Given the description of an element on the screen output the (x, y) to click on. 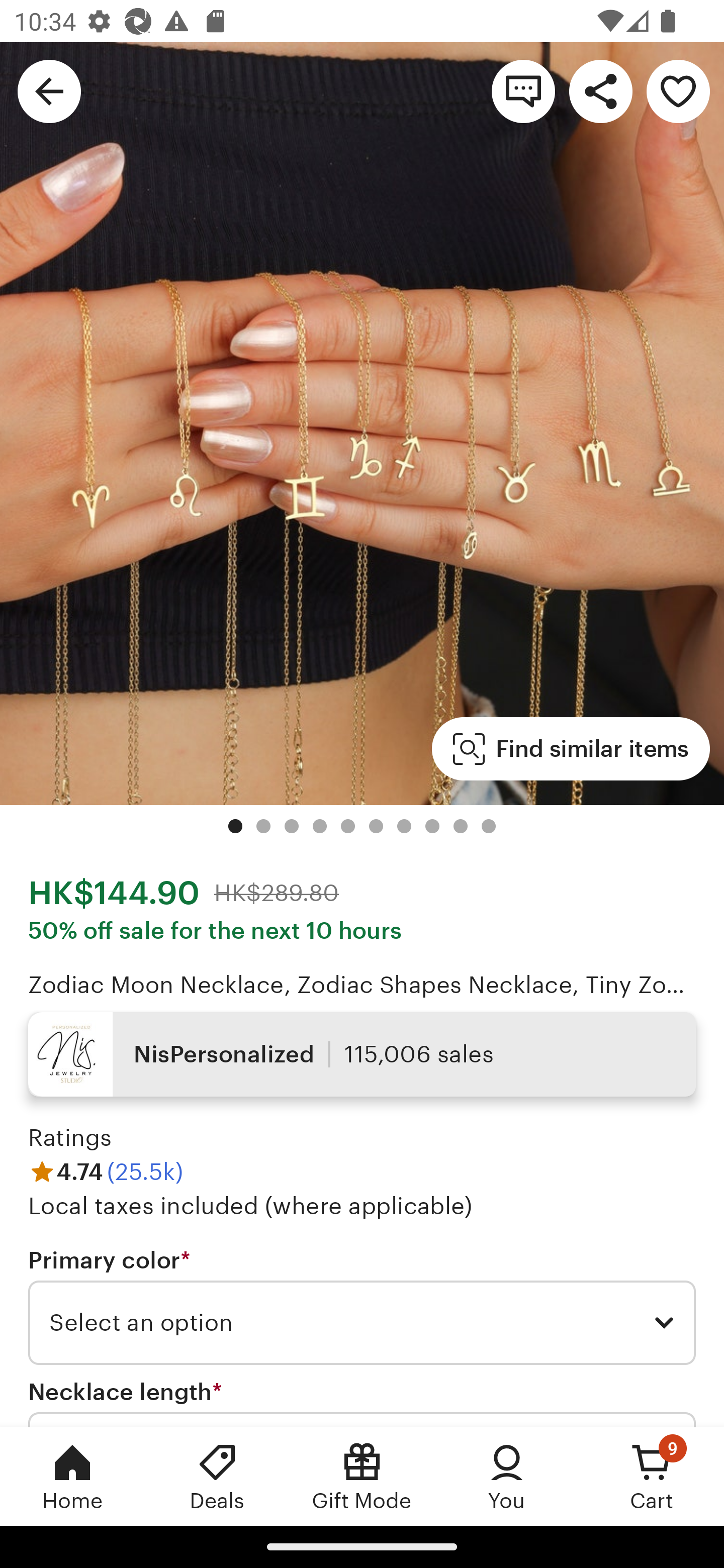
Navigate up (49, 90)
Contact shop (523, 90)
Share (600, 90)
Find similar items (571, 748)
NisPersonalized 115,006 sales (361, 1054)
Ratings (70, 1137)
4.74 (25.5k) (105, 1171)
Primary color * Required Select an option (361, 1306)
Select an option (361, 1323)
Necklace length * Required Select an option (361, 1402)
Deals (216, 1475)
Gift Mode (361, 1475)
You (506, 1475)
Cart, 9 new notifications Cart (651, 1475)
